Given the description of an element on the screen output the (x, y) to click on. 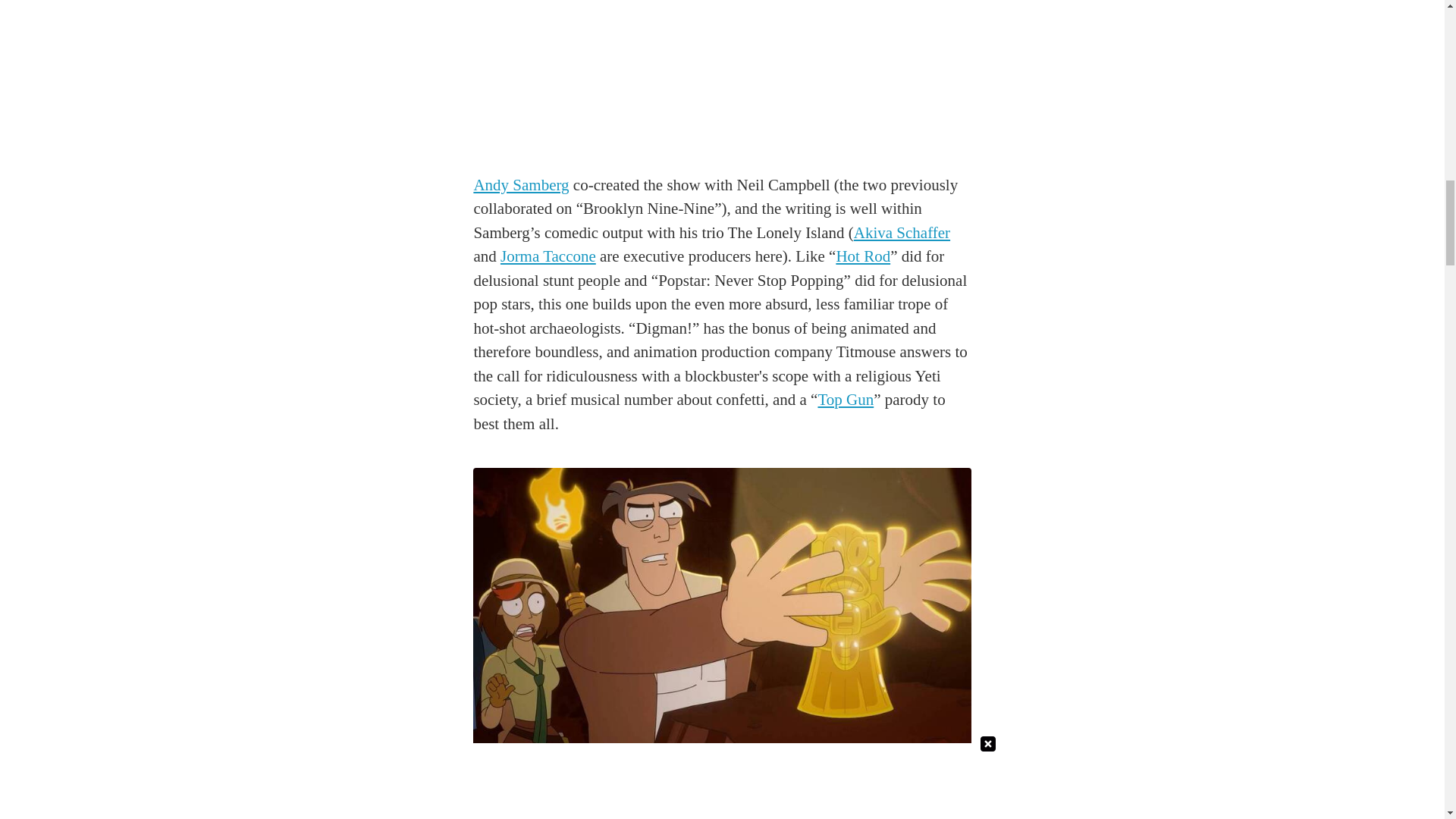
Jorma Taccone (547, 256)
Andy Samberg (521, 185)
Hot Rod (862, 256)
Top Gun (844, 399)
Akiva Schaffer (901, 232)
3rd party ad content (722, 44)
